Given the description of an element on the screen output the (x, y) to click on. 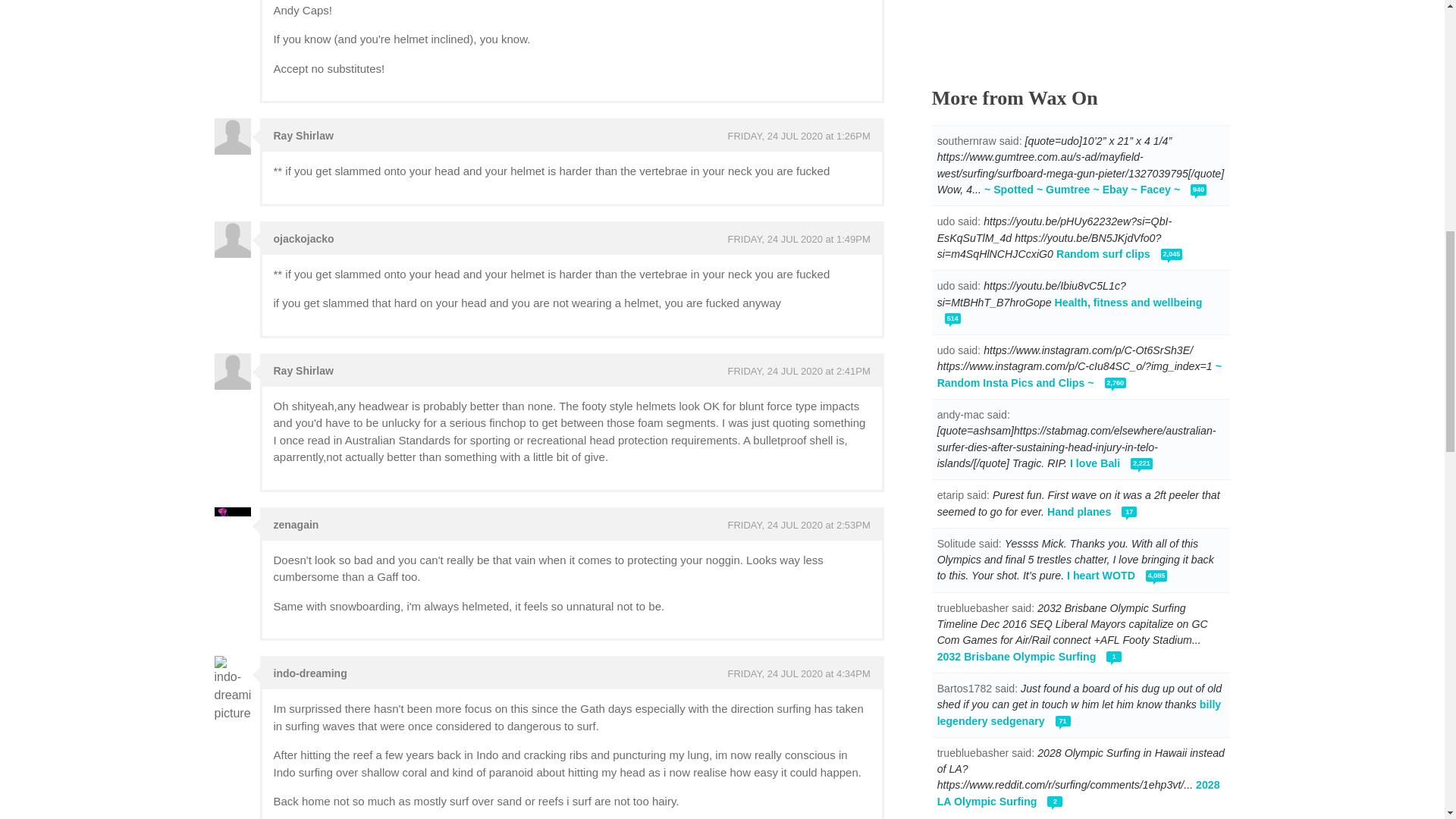
zenagain's picture (232, 524)
Ray Shirlaw's picture (232, 370)
ojackojacko's picture (232, 239)
Ray Shirlaw's picture (232, 135)
